Given the description of an element on the screen output the (x, y) to click on. 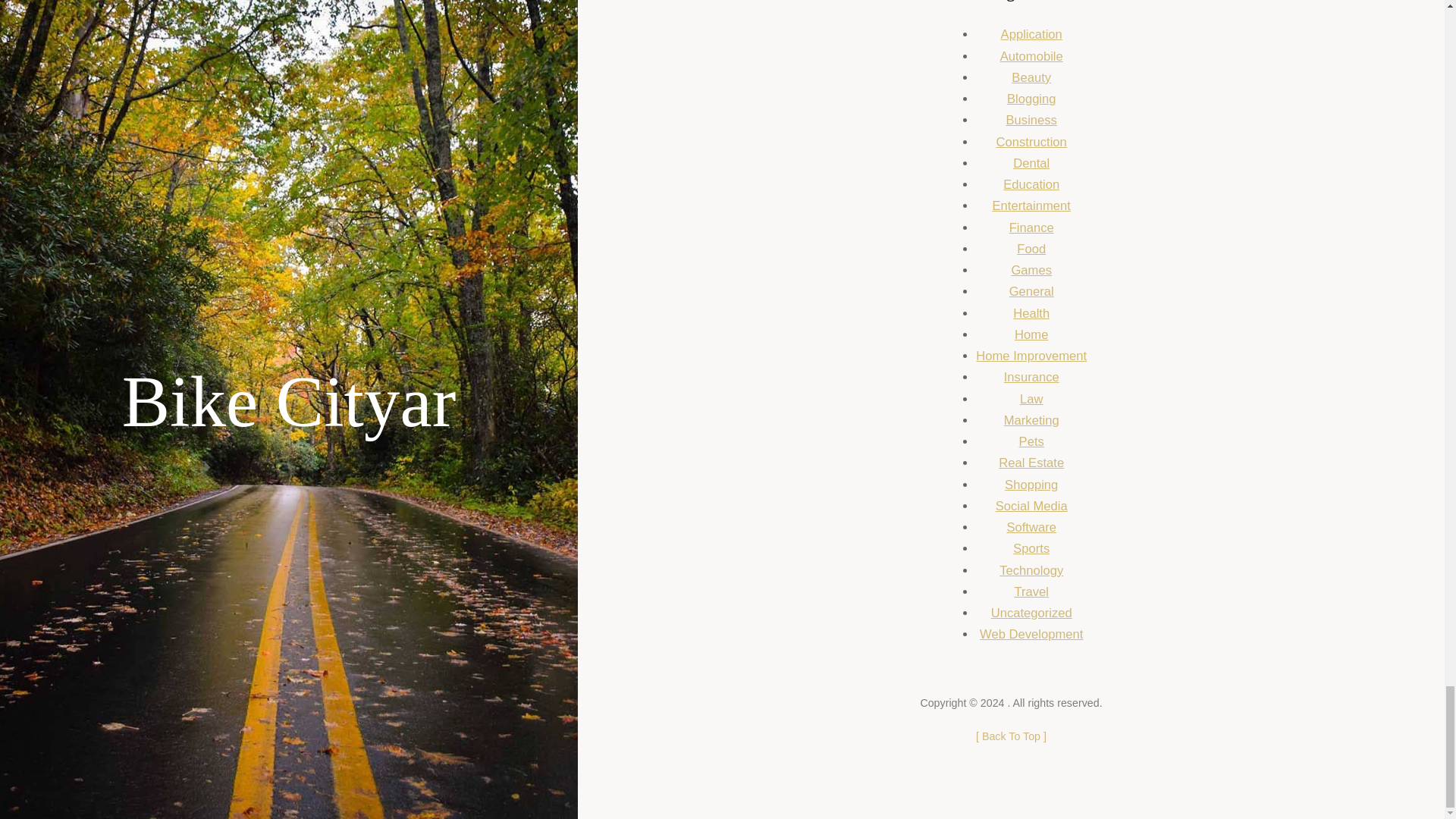
Back To Top (1010, 736)
